Given the description of an element on the screen output the (x, y) to click on. 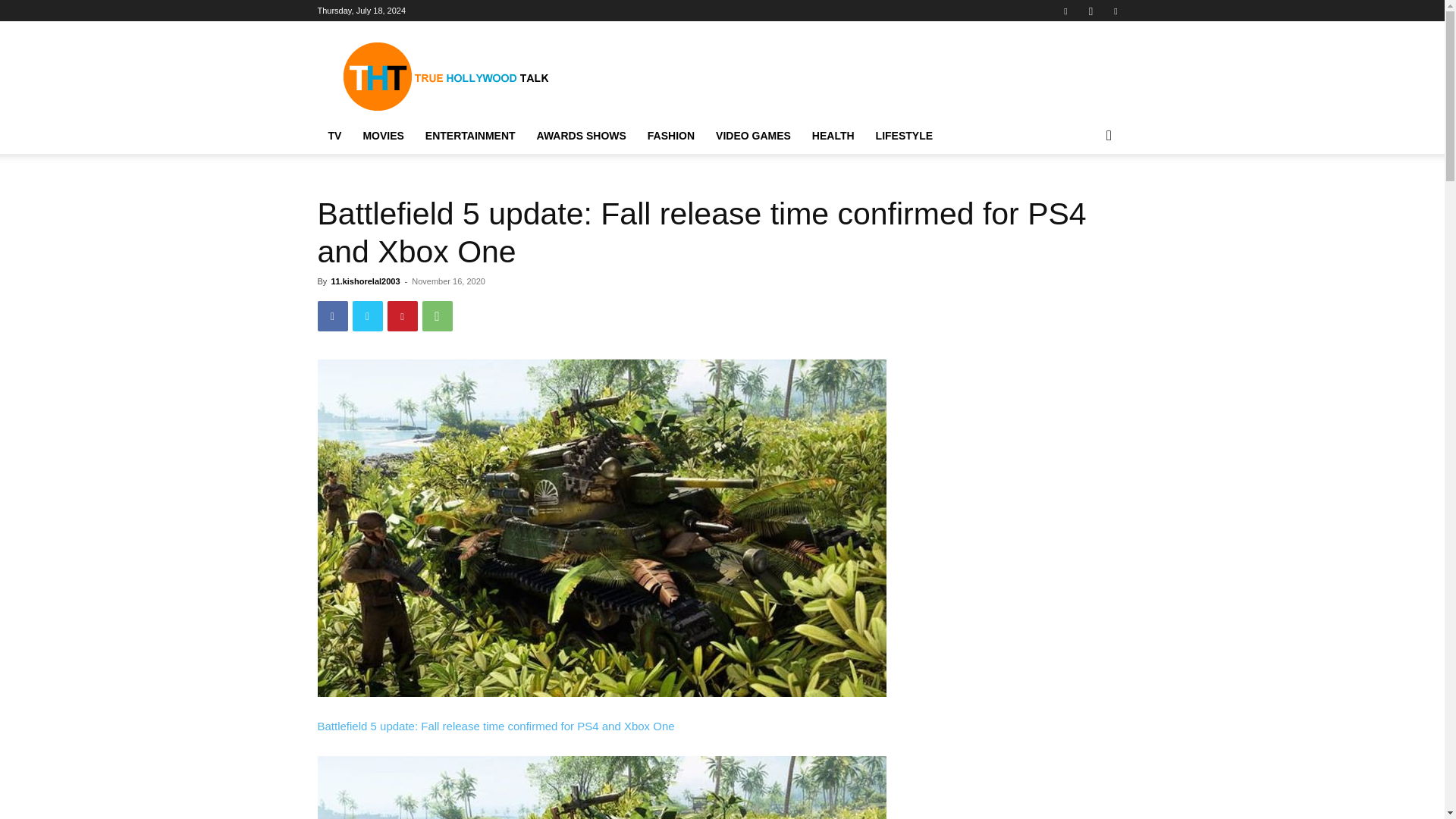
Twitter (1114, 10)
WhatsApp (436, 316)
HEALTH (833, 135)
11.kishorelal2003 (364, 280)
LIFESTYLE (903, 135)
Facebook (332, 316)
Instagram (1090, 10)
MOVIES (382, 135)
Pinterest (401, 316)
Facebook (1065, 10)
Twitter (366, 316)
FASHION (670, 135)
